Given the description of an element on the screen output the (x, y) to click on. 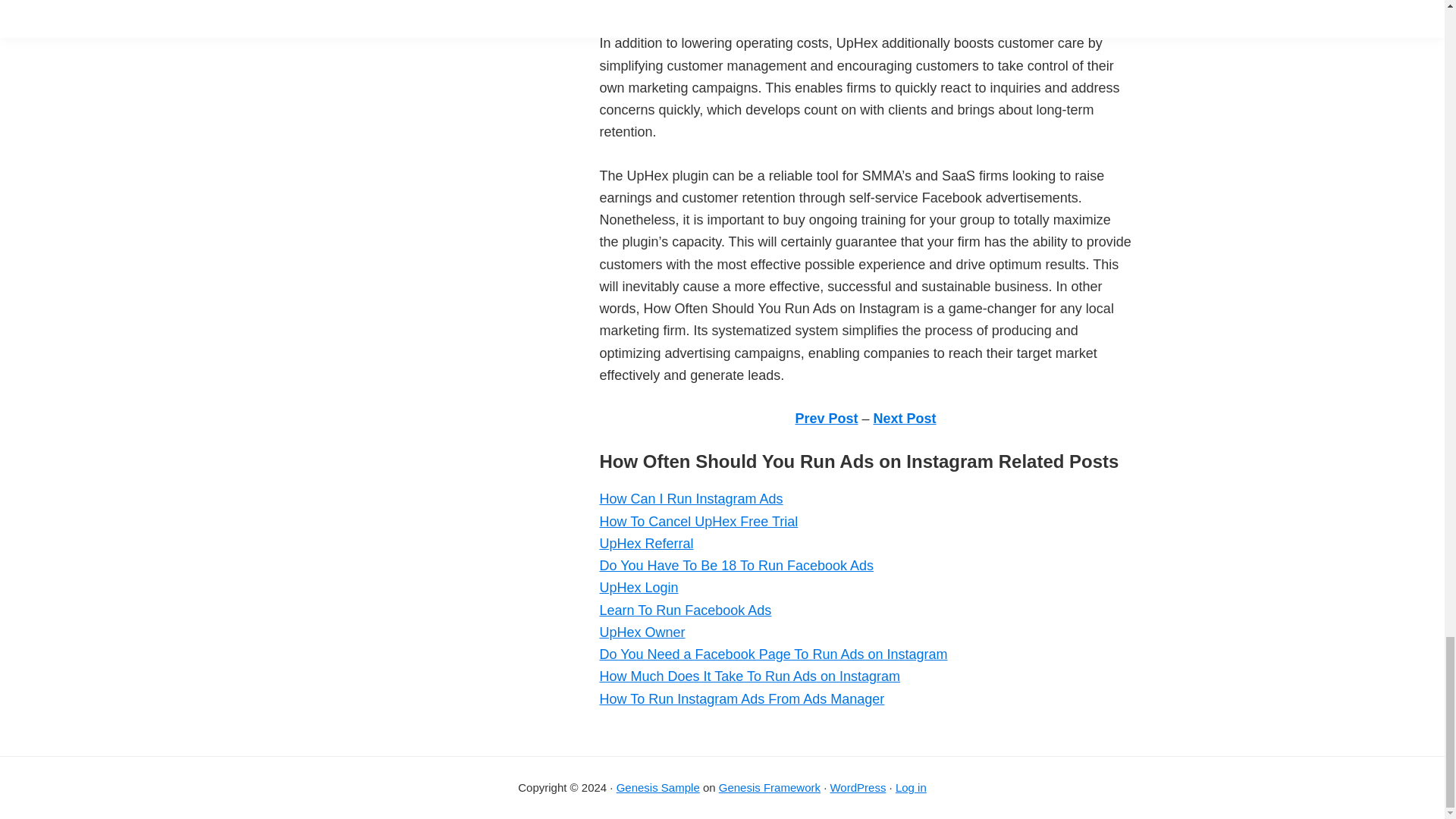
Do You Need a Facebook Page To Run Ads on Instagram (772, 618)
How Can I Run Instagram Ads (690, 462)
UpHex Owner (641, 596)
How Much Does It Take To Run Ads on Instagram (748, 640)
How To Cancel UpHex Free Trial (697, 485)
UpHex Referral (645, 507)
How Much Does It Take To Run Ads on Instagram (748, 640)
Log in (910, 787)
Do You Have To Be 18 To Run Facebook Ads (735, 529)
UpHex Login (638, 551)
